Given the description of an element on the screen output the (x, y) to click on. 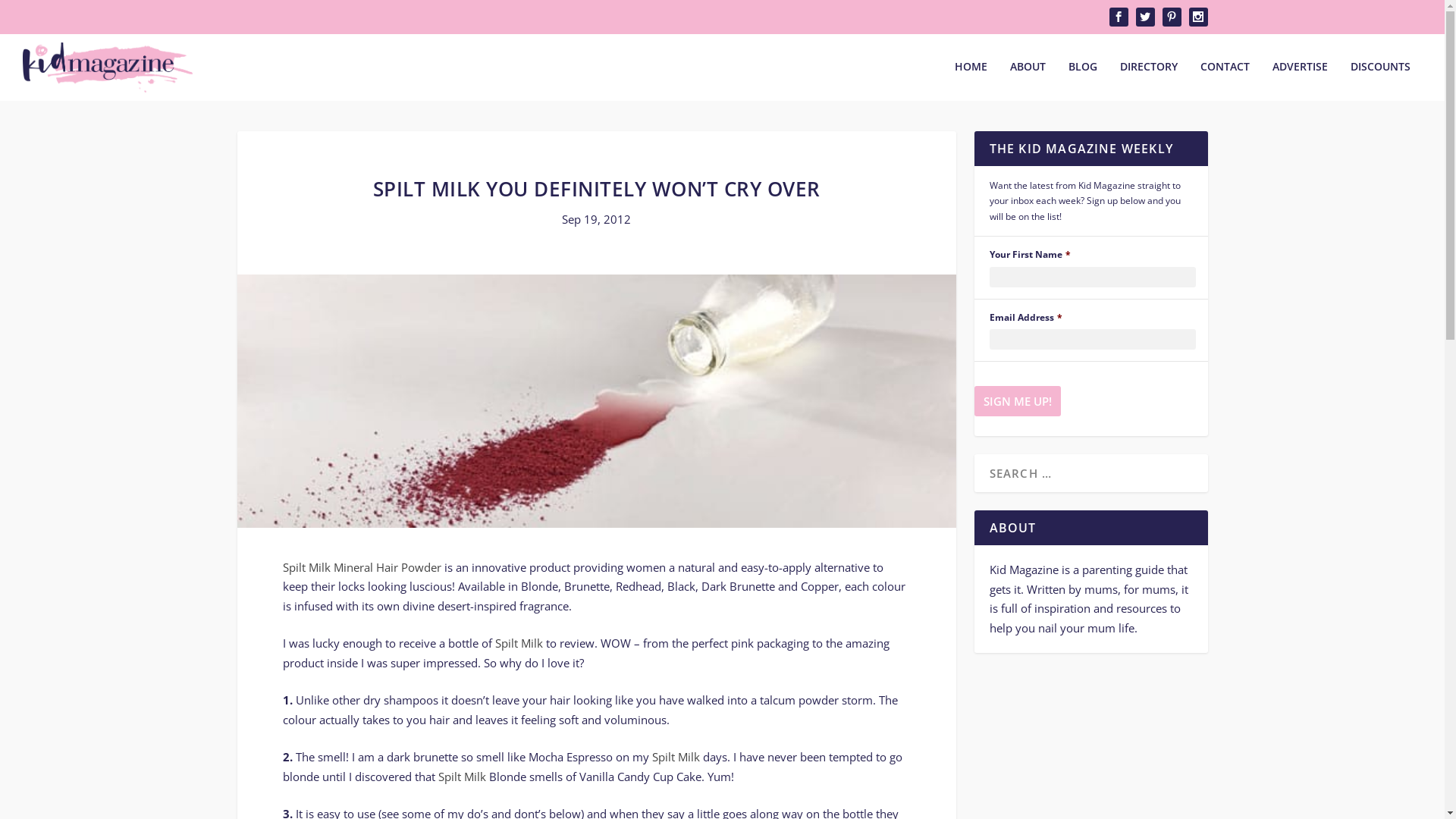
ADVERTISE Element type: text (1299, 80)
ABOUT Element type: text (1027, 80)
HOME Element type: text (970, 80)
Sign me up! Element type: text (1016, 400)
Spilt Milk Element type: text (675, 756)
Spilt Milk Mineral Hair Powder Element type: text (361, 566)
DIRECTORY Element type: text (1148, 80)
Search Element type: text (30, 15)
DISCOUNTS Element type: text (1380, 80)
Spilt Milk Element type: text (518, 642)
Spilt Milk Element type: text (462, 776)
BLOG Element type: text (1082, 80)
CONTACT Element type: text (1224, 80)
